Given the description of an element on the screen output the (x, y) to click on. 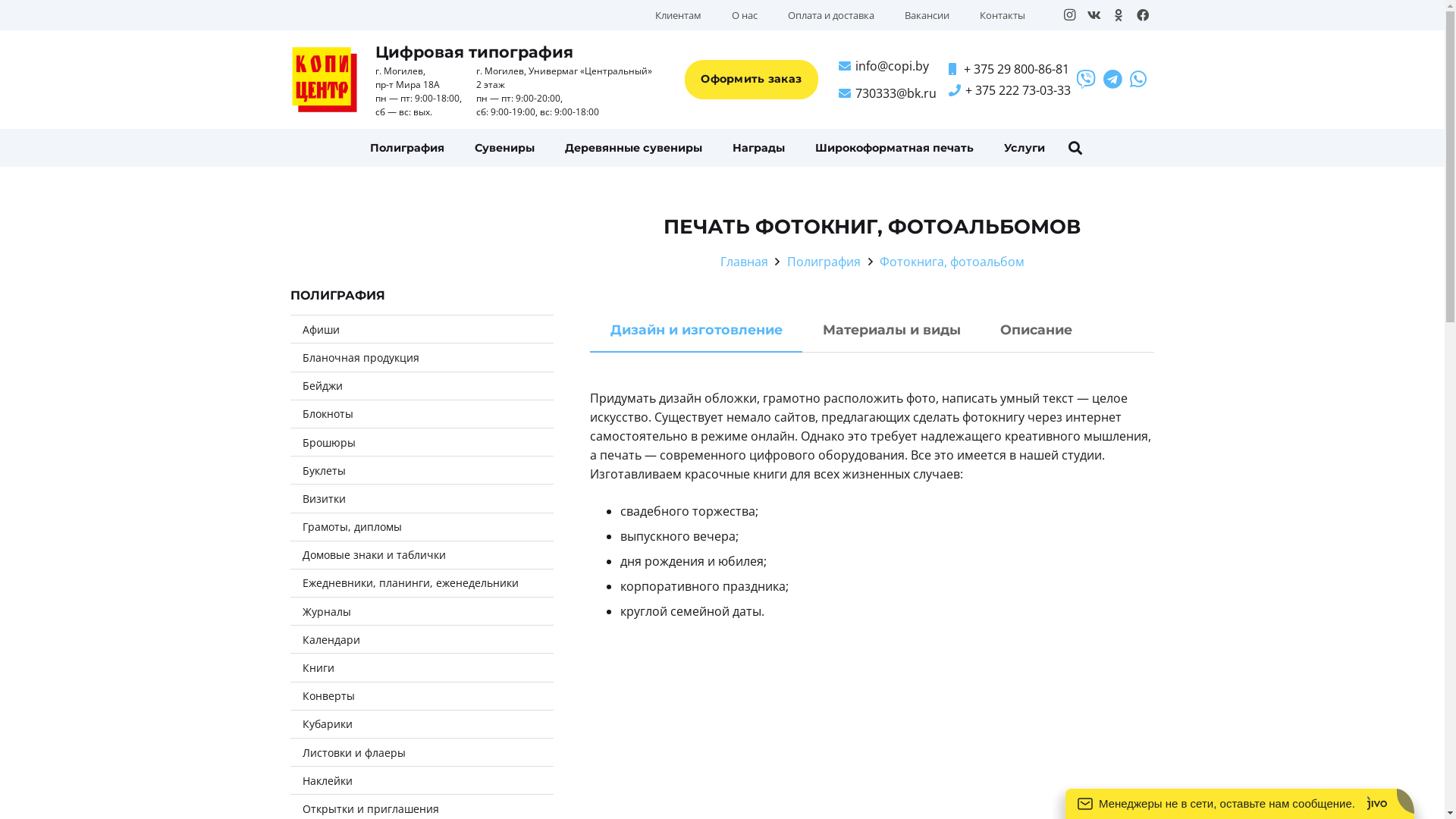
Instagram Element type: hover (1069, 15)
730333@bk.ru Element type: text (887, 92)
Odnoklassniki Element type: hover (1117, 15)
+ 375 222 73-03-33 Element type: text (1009, 89)
+ 375 29 800-86-81 Element type: text (1008, 68)
info@copi.by Element type: text (883, 65)
Facebook Element type: hover (1141, 15)
Vkontakte Element type: hover (1093, 15)
